Given the description of an element on the screen output the (x, y) to click on. 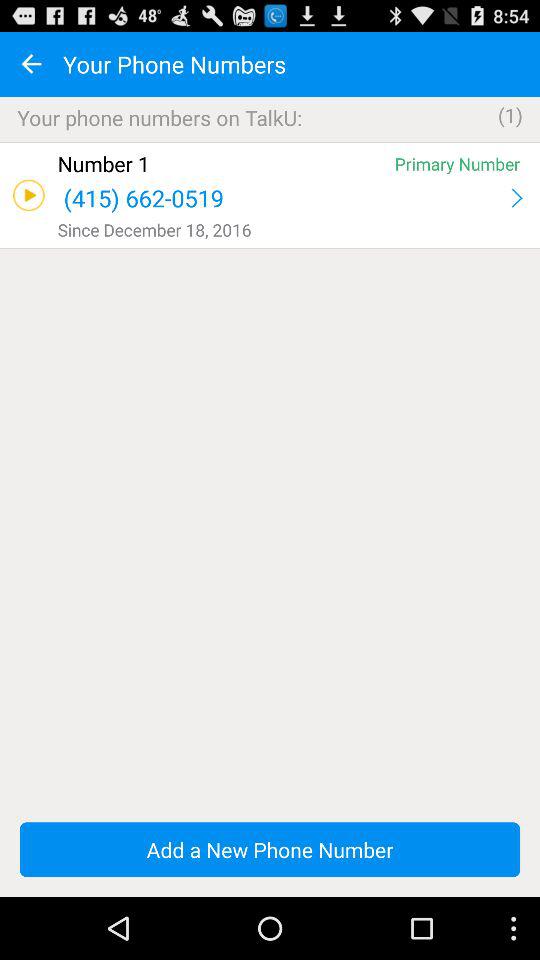
swipe to (415) 662-0519 icon (282, 198)
